Given the description of an element on the screen output the (x, y) to click on. 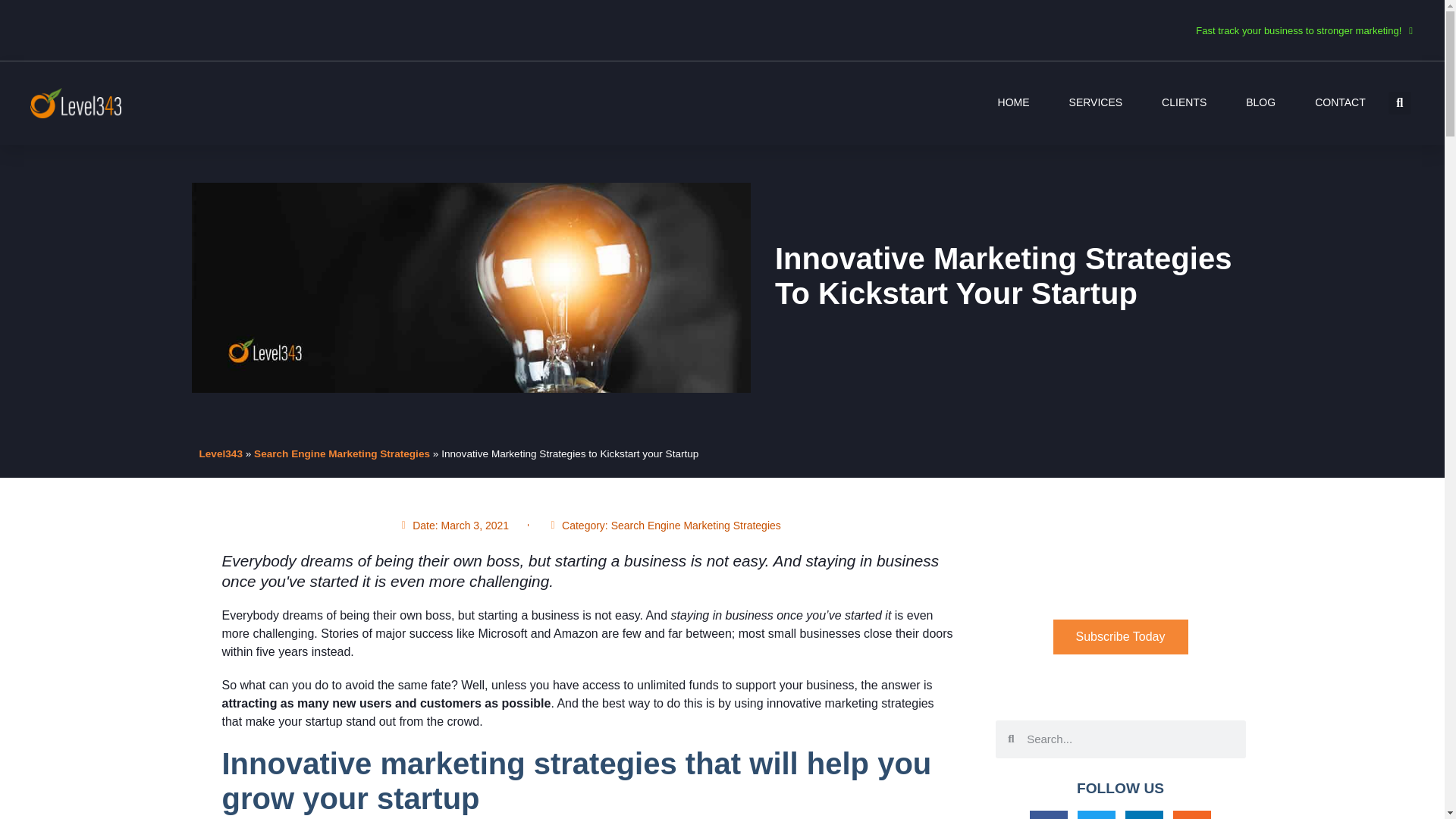
CLIENTS (1184, 102)
CONTACT (1339, 102)
Fast track your business to stronger marketing! (1303, 30)
SERVICES (1095, 102)
